Given the description of an element on the screen output the (x, y) to click on. 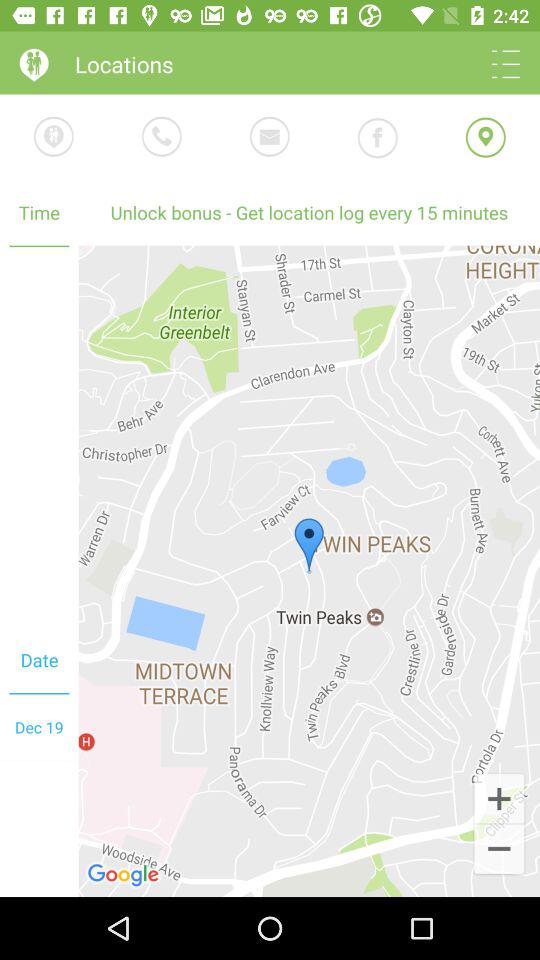
select the icon at the center (309, 570)
